Given the description of an element on the screen output the (x, y) to click on. 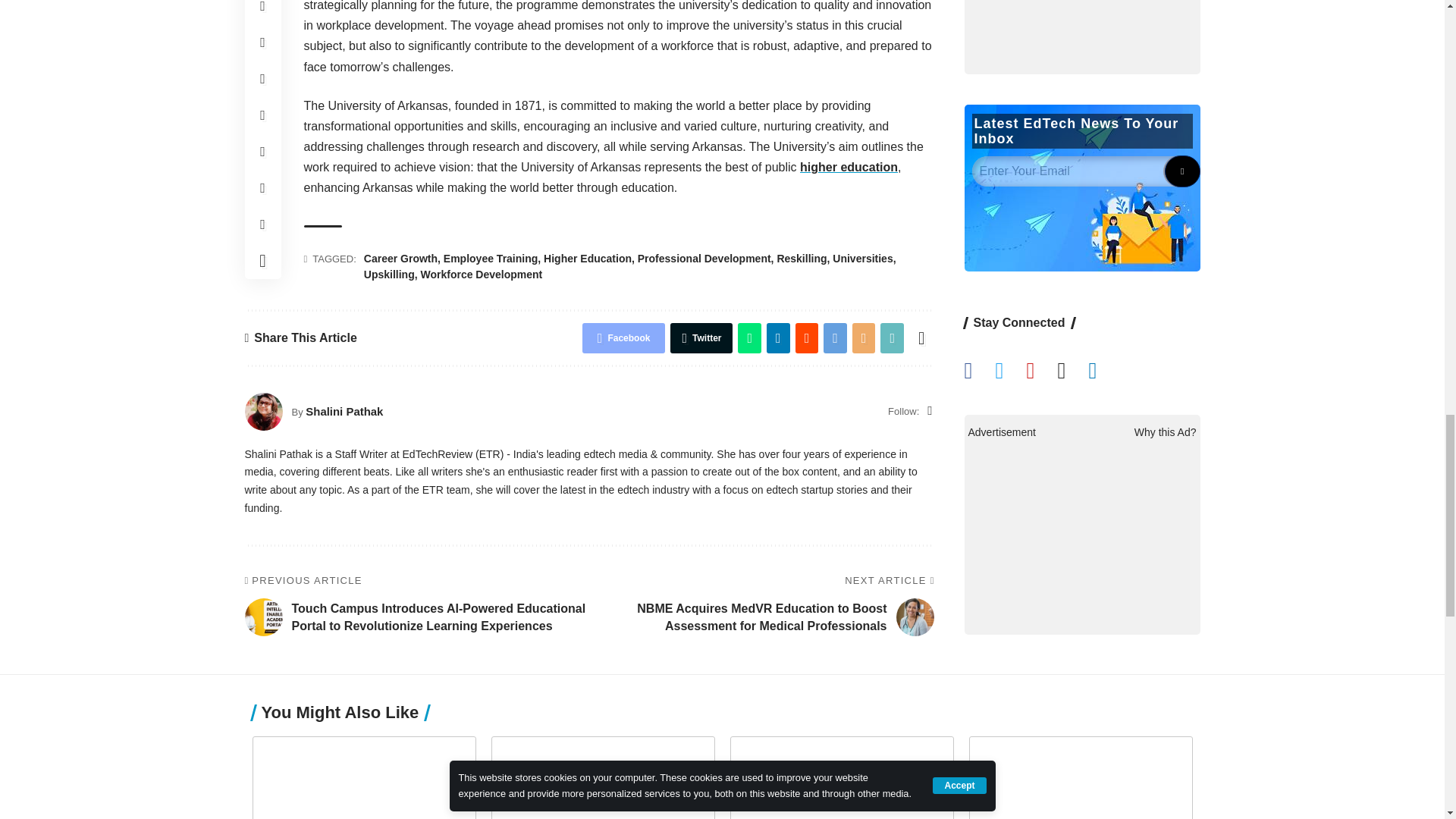
Shalini-pathak (263, 411)
